Given the description of an element on the screen output the (x, y) to click on. 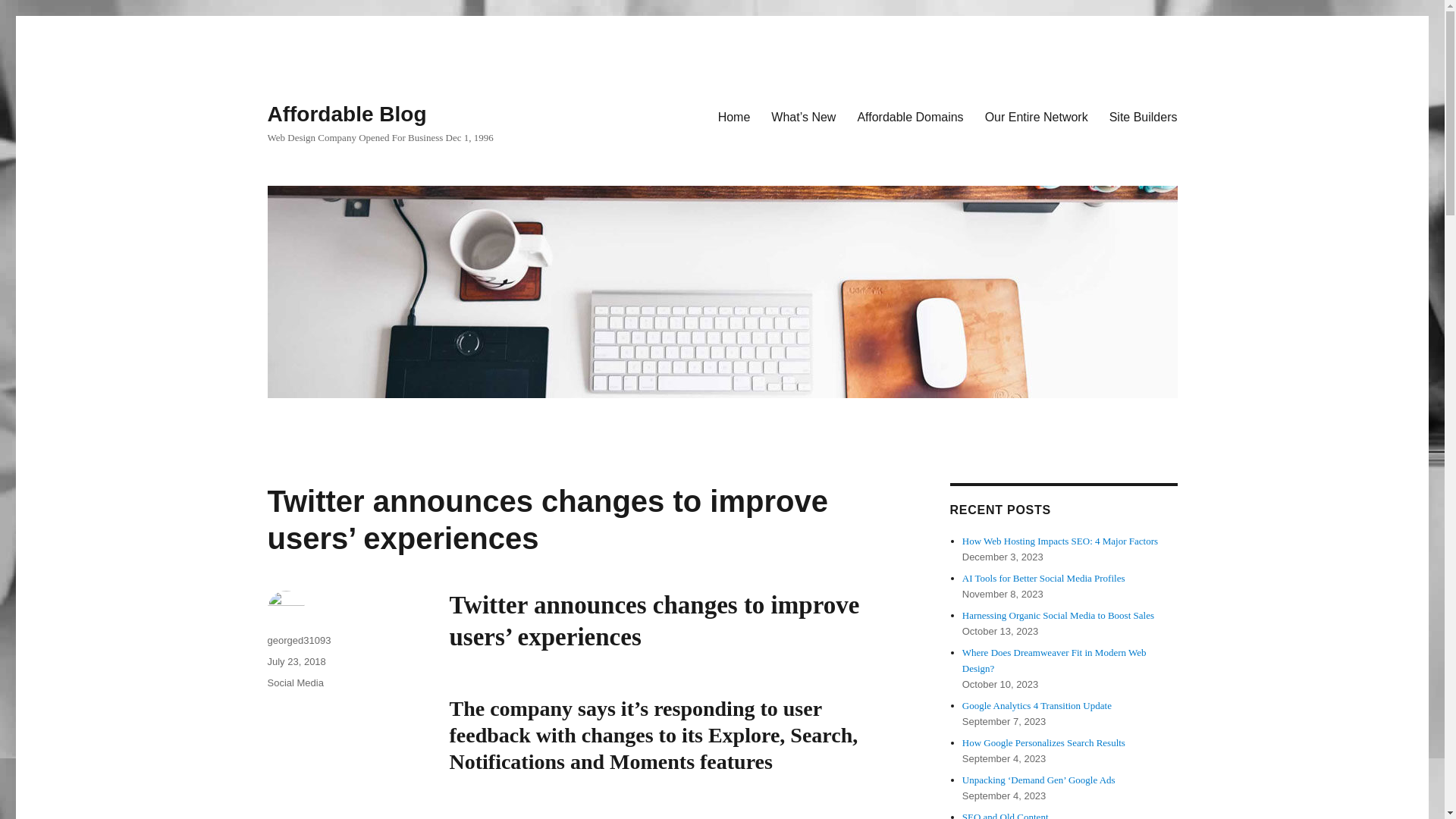
How Web Hosting Impacts SEO: 4 Major Factors (1059, 541)
Social Media (294, 682)
July 23, 2018 (295, 661)
Affordable Blog (346, 114)
Harnessing Organic Social Media to Boost Sales (1058, 614)
Google Analytics 4 Transition Update (1037, 705)
Home (734, 116)
Site Builders (1143, 116)
Where Does Dreamweaver Fit in Modern Web Design? (1054, 660)
georged31093 (298, 640)
AI Tools for Better Social Media Profiles (1043, 577)
Affordable Domains (909, 116)
Our Entire Network (1036, 116)
How Google Personalizes Search Results (1043, 742)
SEO and Old Content (1005, 815)
